Given the description of an element on the screen output the (x, y) to click on. 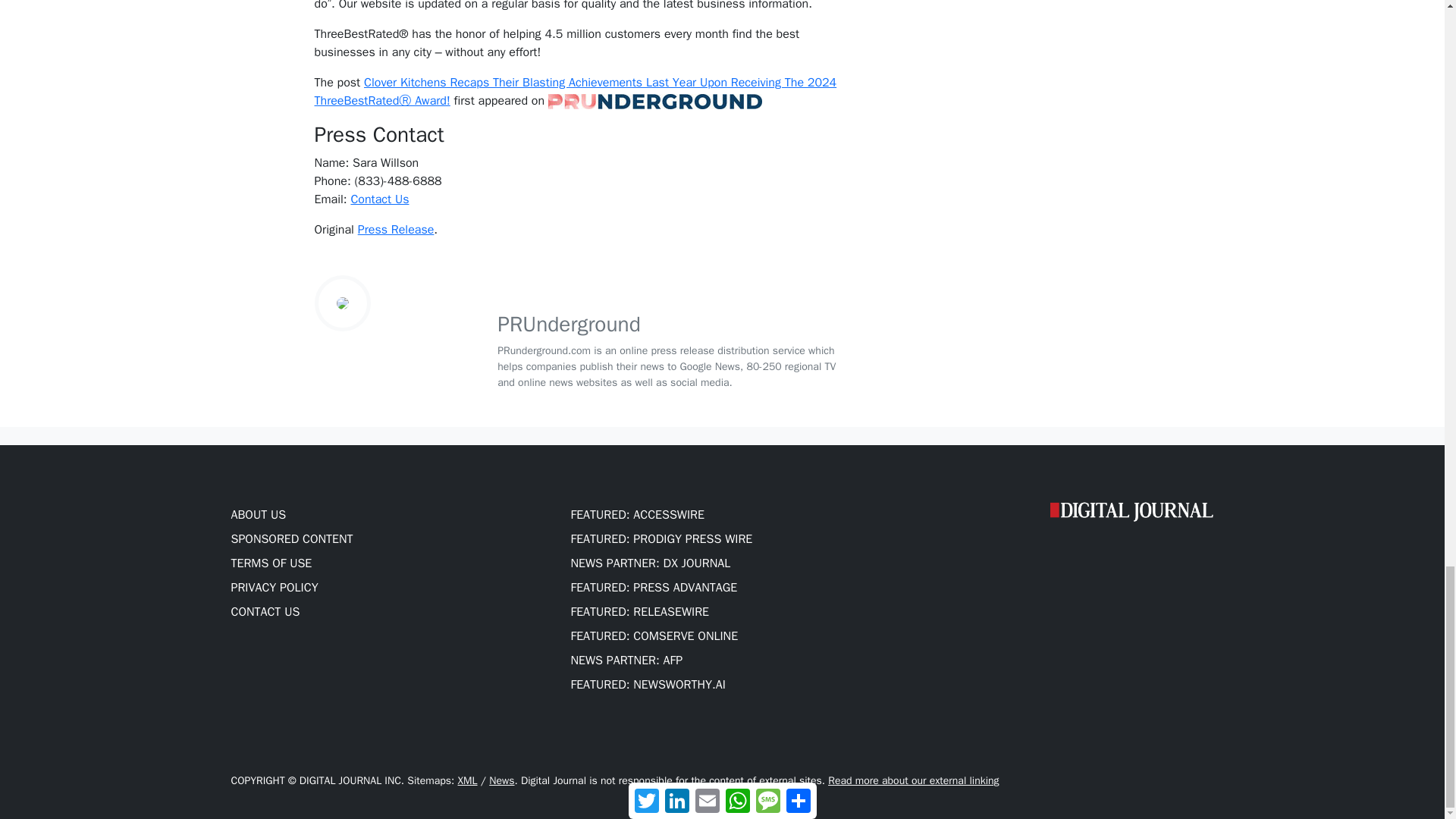
Press Release (395, 229)
Contact Us (379, 199)
